Given the description of an element on the screen output the (x, y) to click on. 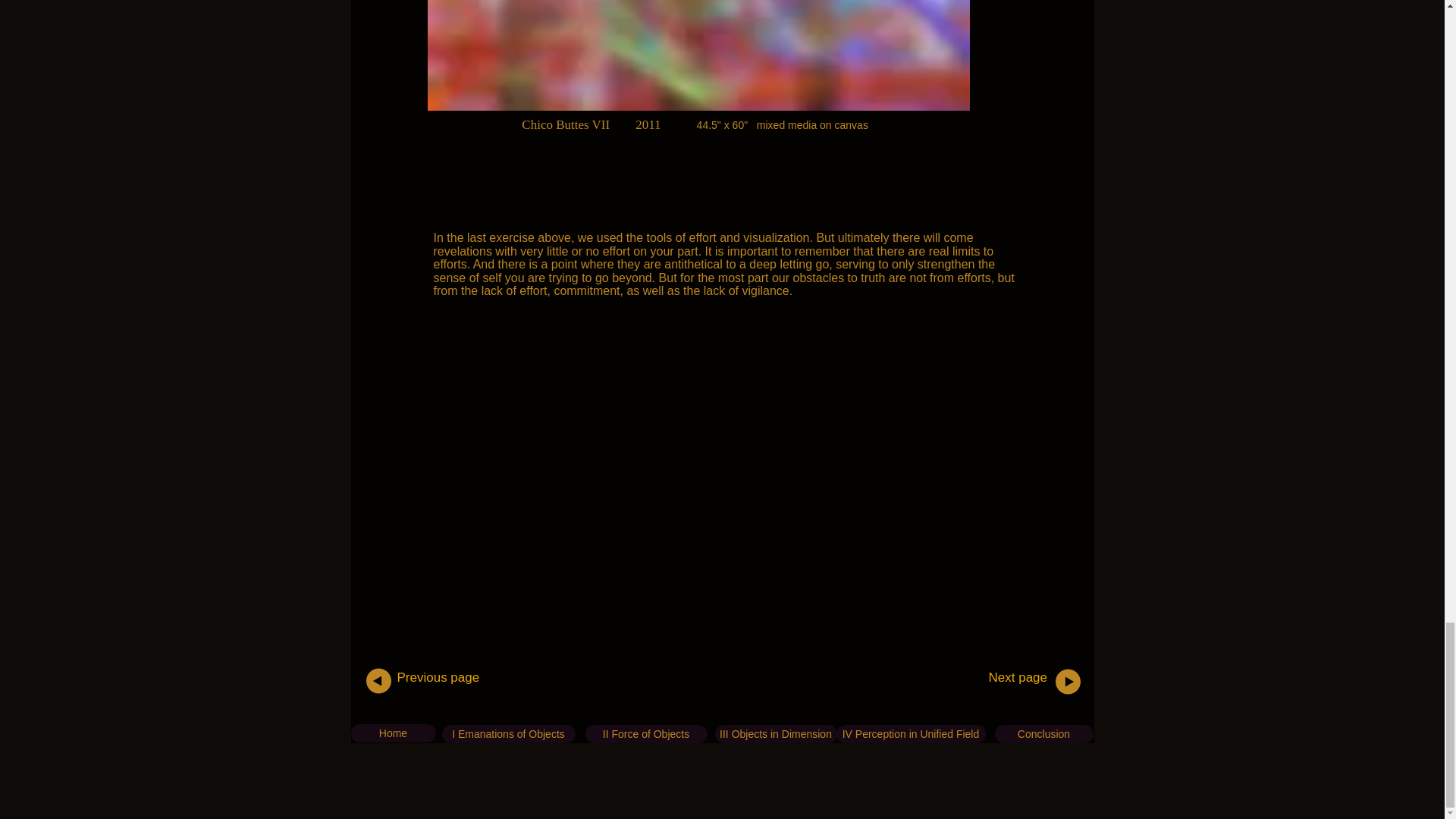
Next page (1018, 677)
III Objects in Dimension (774, 733)
I Emanations of Objects (508, 733)
IV Perception in Unified Field (910, 733)
II Force of Objects (646, 733)
Previous page (438, 677)
Home (392, 732)
Conclusion (1043, 733)
